Given the description of an element on the screen output the (x, y) to click on. 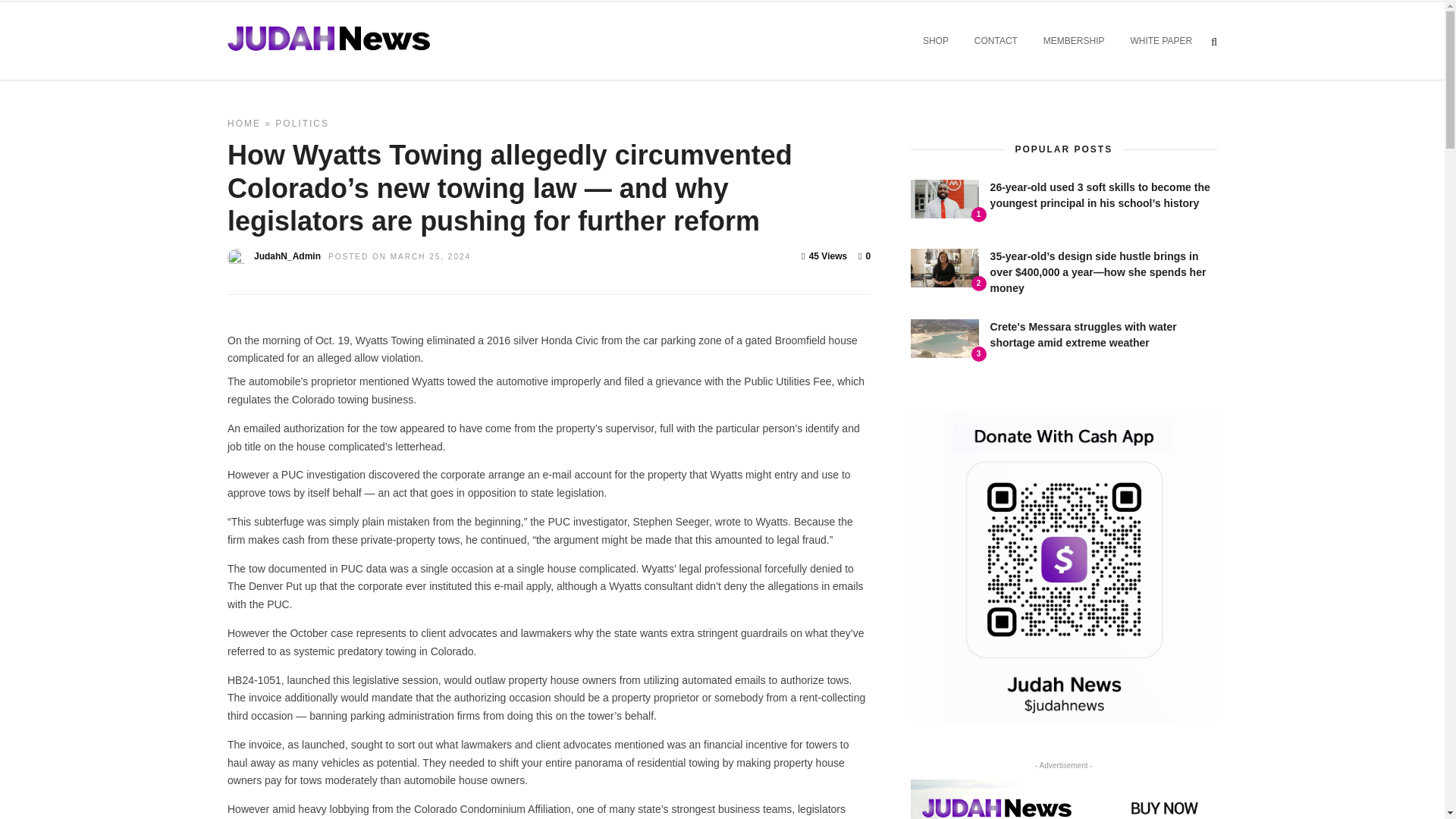
POLITICS (302, 122)
CONTACT (995, 41)
0 (864, 255)
SHOP (935, 41)
WHITE PAPER (1161, 41)
MEMBERSHIP (1074, 41)
HOME (243, 122)
